Given the description of an element on the screen output the (x, y) to click on. 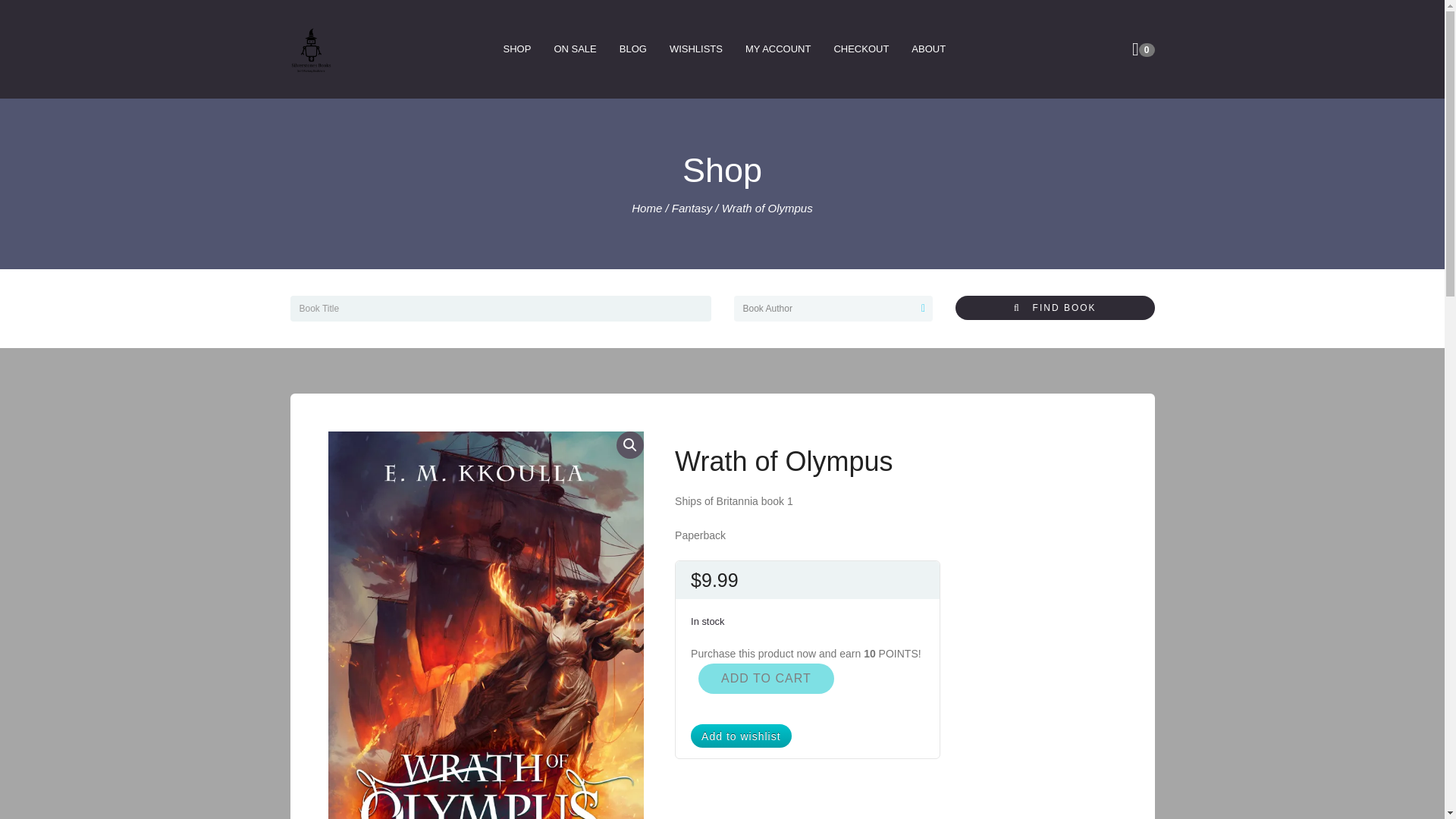
SHOP (517, 49)
MY ACCOUNT (777, 49)
  FIND BOOK (1054, 307)
Fantasy (691, 207)
Blog (633, 49)
Wishlists (695, 49)
Checkout (860, 49)
Wrath of Olympus (485, 625)
WISHLISTS (695, 49)
My account (777, 49)
ON SALE (574, 49)
Shop (517, 49)
0 (1135, 49)
Add to wishlist (740, 735)
About (927, 49)
